Given the description of an element on the screen output the (x, y) to click on. 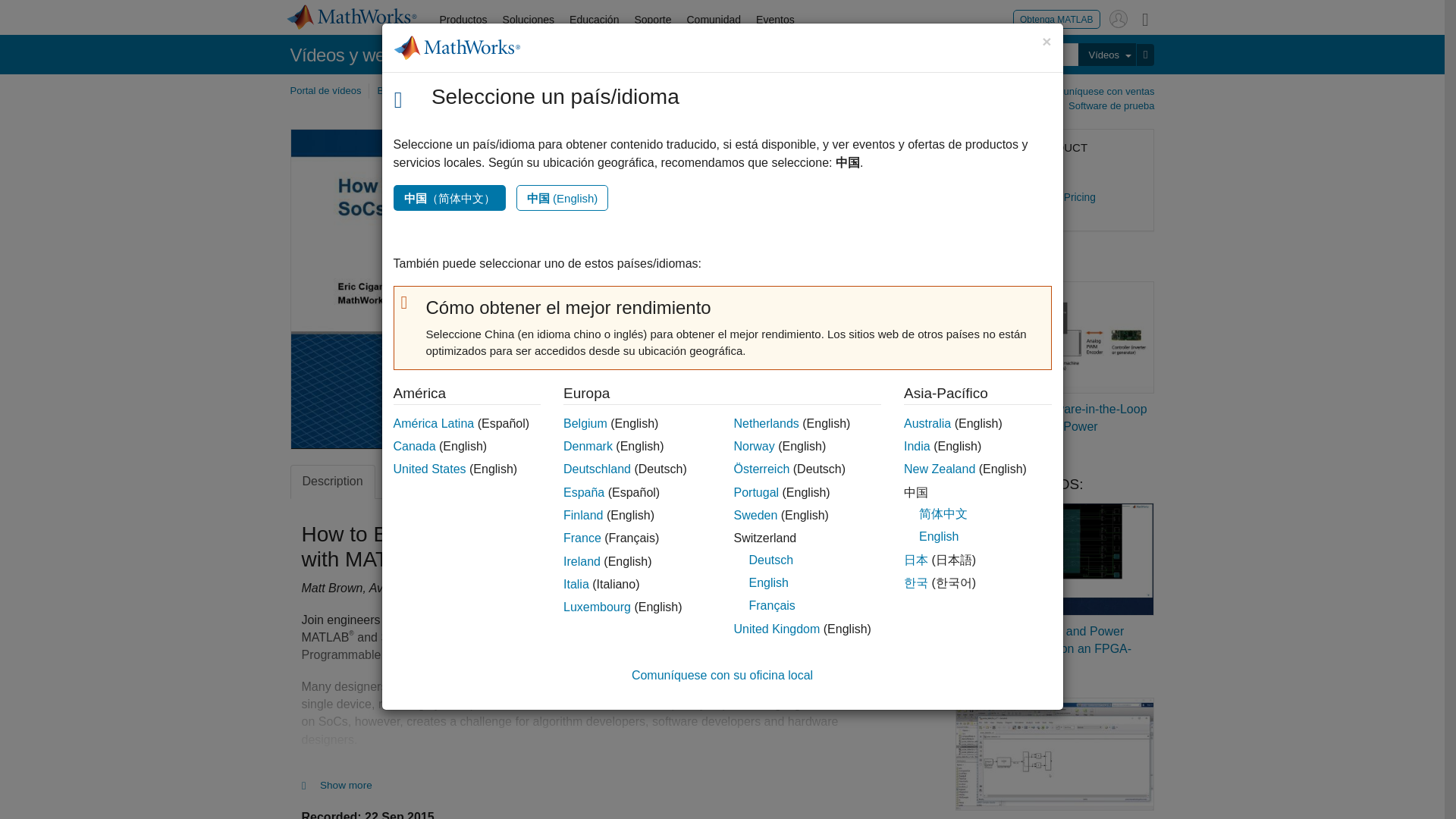
Soluciones (528, 19)
Comunidad (713, 19)
Obtenga MATLAB (1056, 18)
Eventos (775, 19)
Play Video (574, 288)
Productos (463, 19)
Soporte (652, 19)
